Given the description of an element on the screen output the (x, y) to click on. 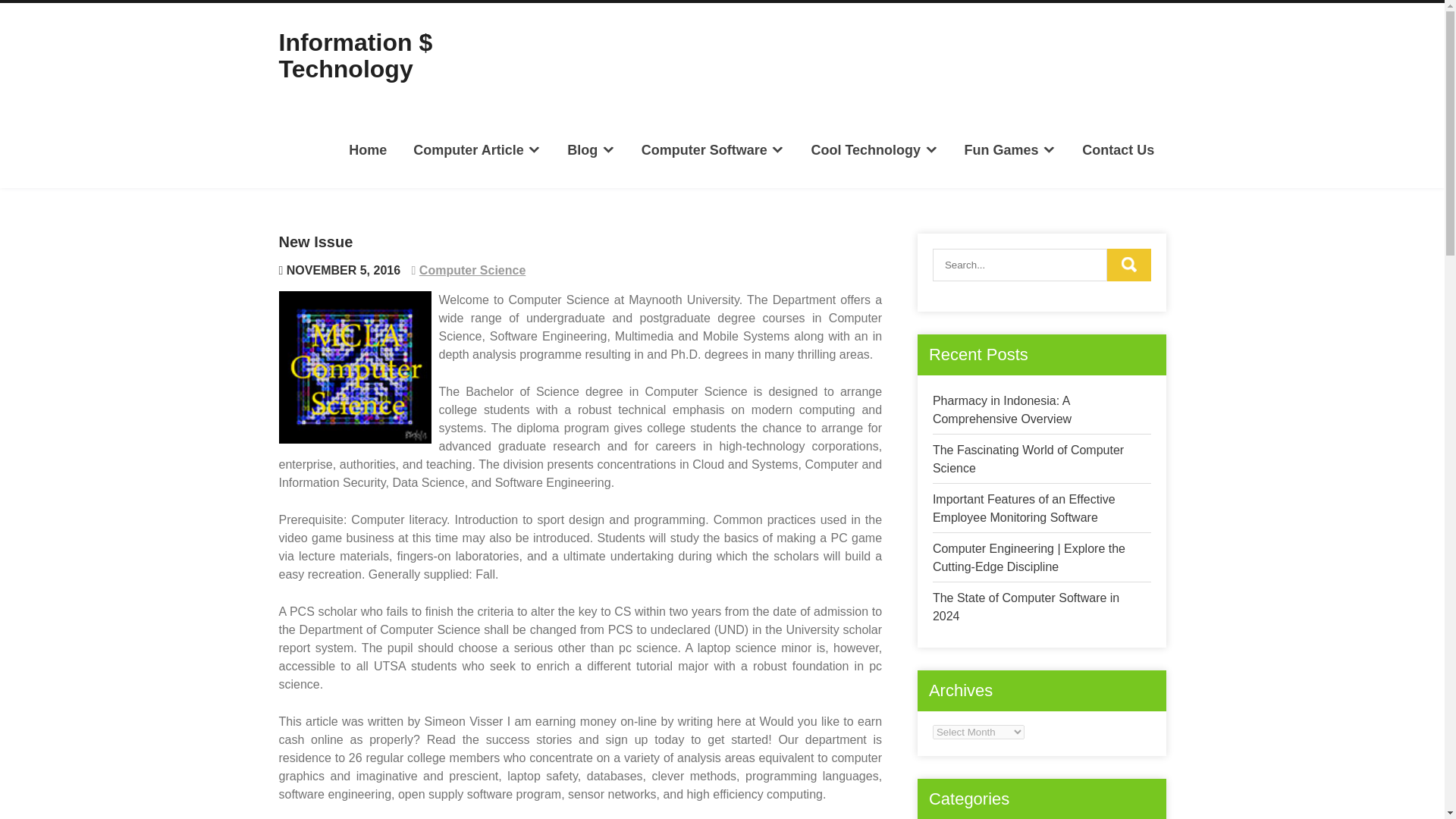
Search (1128, 264)
Blog (591, 149)
Search (1128, 264)
Fun Games (1009, 149)
Contact Us (1118, 149)
Cool Technology (874, 149)
Computer Science (472, 269)
Home (367, 149)
Computer Software (713, 149)
Computer Article (476, 149)
